Given the description of an element on the screen output the (x, y) to click on. 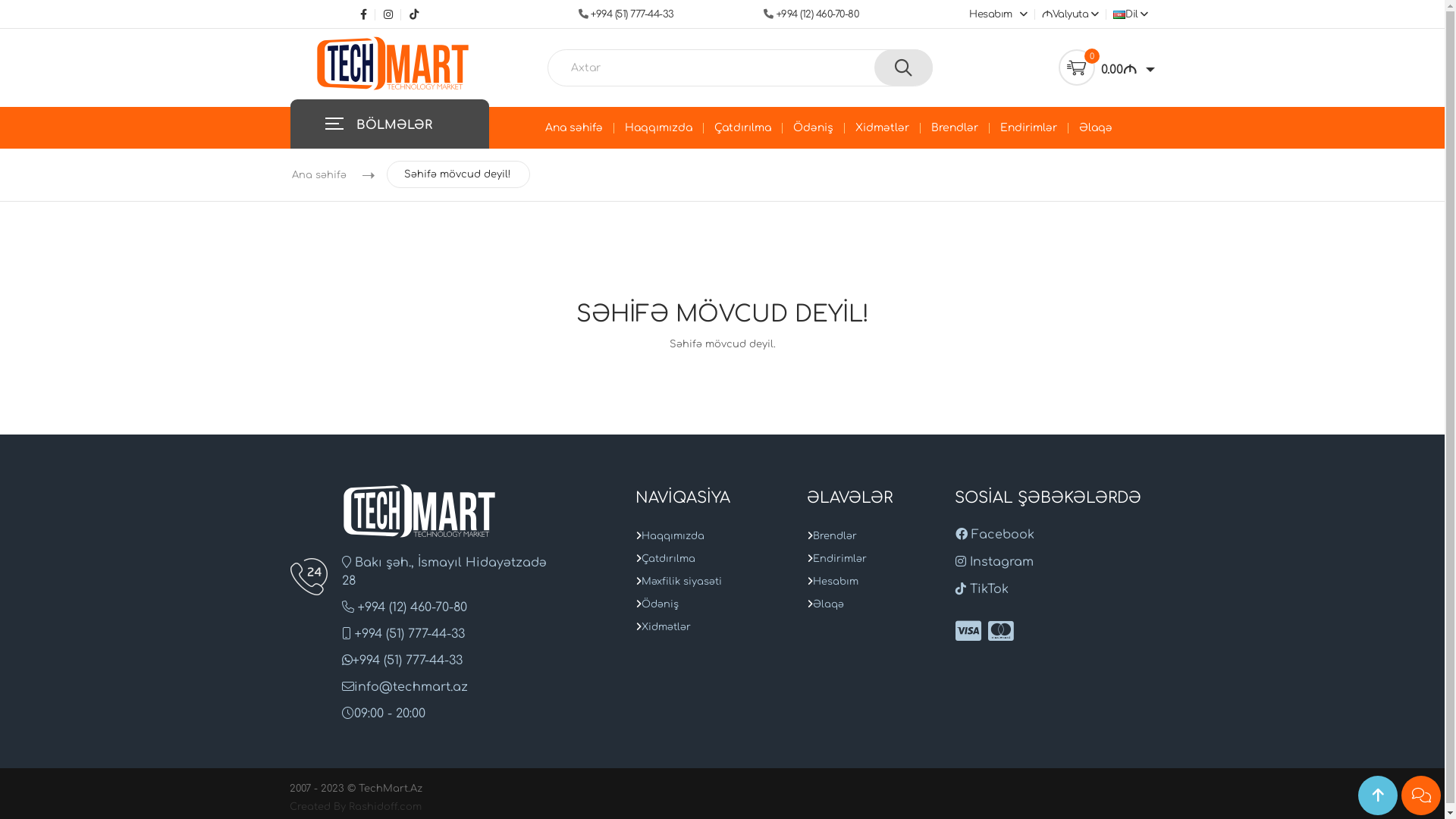
+994 (51) 777-44-33 Element type: text (632, 14)
Dil Element type: text (1128, 14)
Instagram Element type: text (994, 561)
TechMart.Az Element type: hover (392, 62)
Facebook Element type: text (994, 534)
TechMart.Az Element type: hover (418, 510)
Instagram Element type: hover (389, 14)
TikTok Element type: hover (411, 14)
MValyuta Element type: text (1068, 14)
+994 (12) 460-70-80 Element type: text (816, 14)
Facebook Element type: hover (367, 14)
TikTok Element type: text (981, 589)
Created By Rashidoff.com Element type: text (355, 806)
0
0.00M Element type: text (1106, 67)
